Given the description of an element on the screen output the (x, y) to click on. 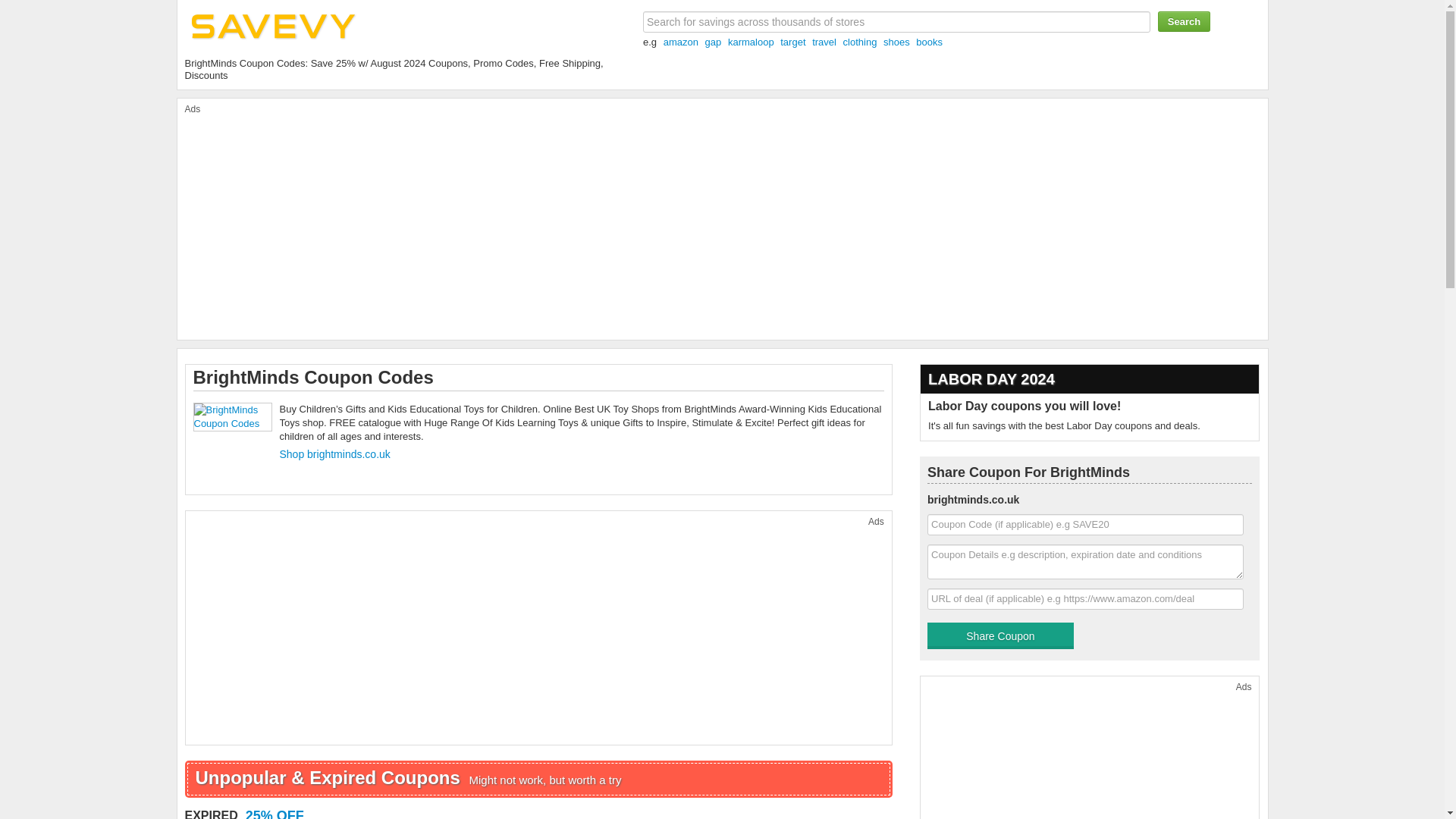
Search (1183, 21)
shoes (896, 41)
Click to activate coupon (567, 814)
Search (1183, 21)
Shop brightminds.co.uk (334, 453)
travel (823, 41)
target (792, 41)
Search (1183, 21)
gap (713, 41)
amazon (680, 41)
